Given the description of an element on the screen output the (x, y) to click on. 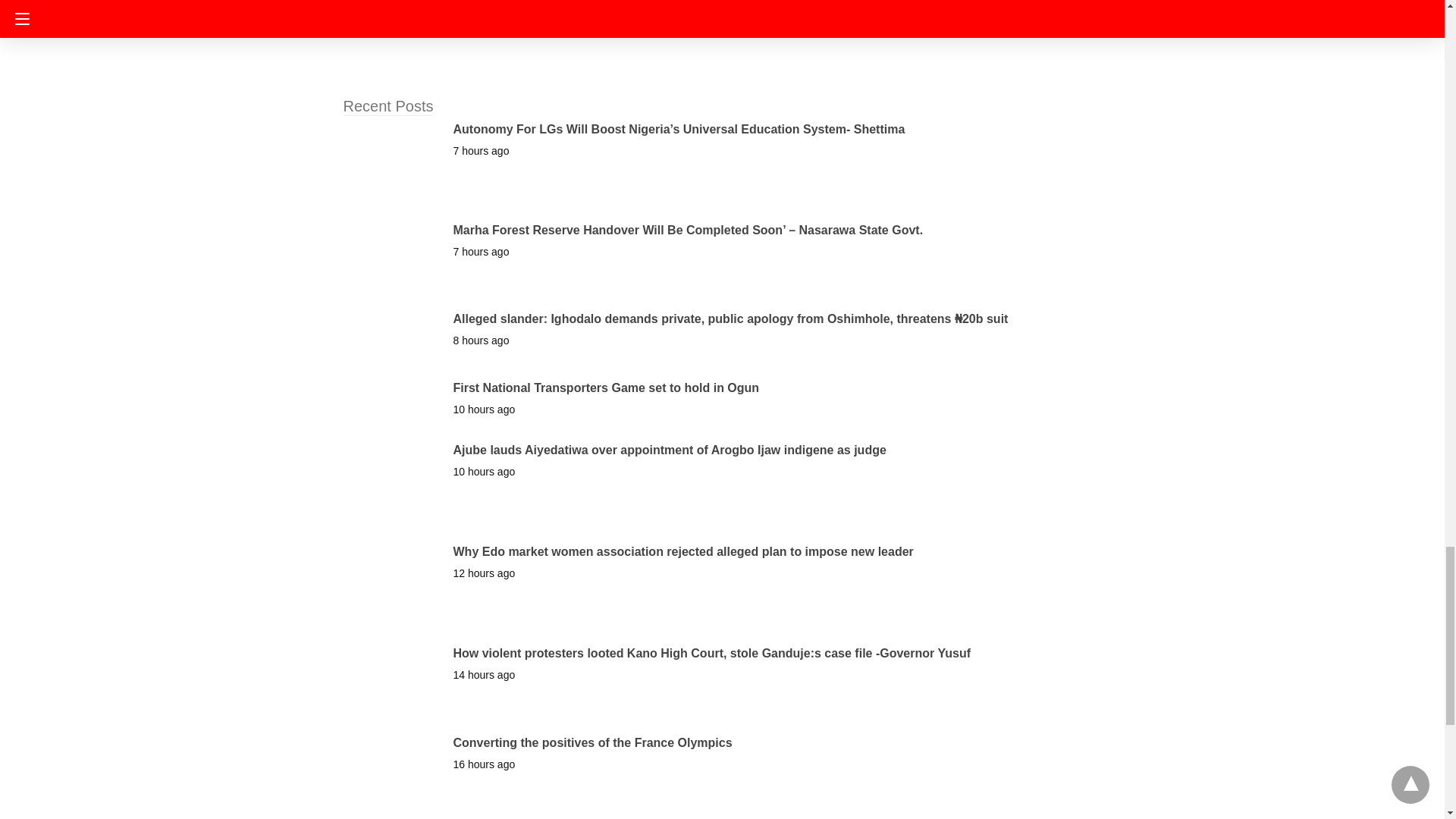
First National Transporters Game set to hold in Ogun (606, 387)
First National Transporters Game set to hold in Ogun (606, 387)
Converting the positives of the France Olympics (592, 742)
